Given the description of an element on the screen output the (x, y) to click on. 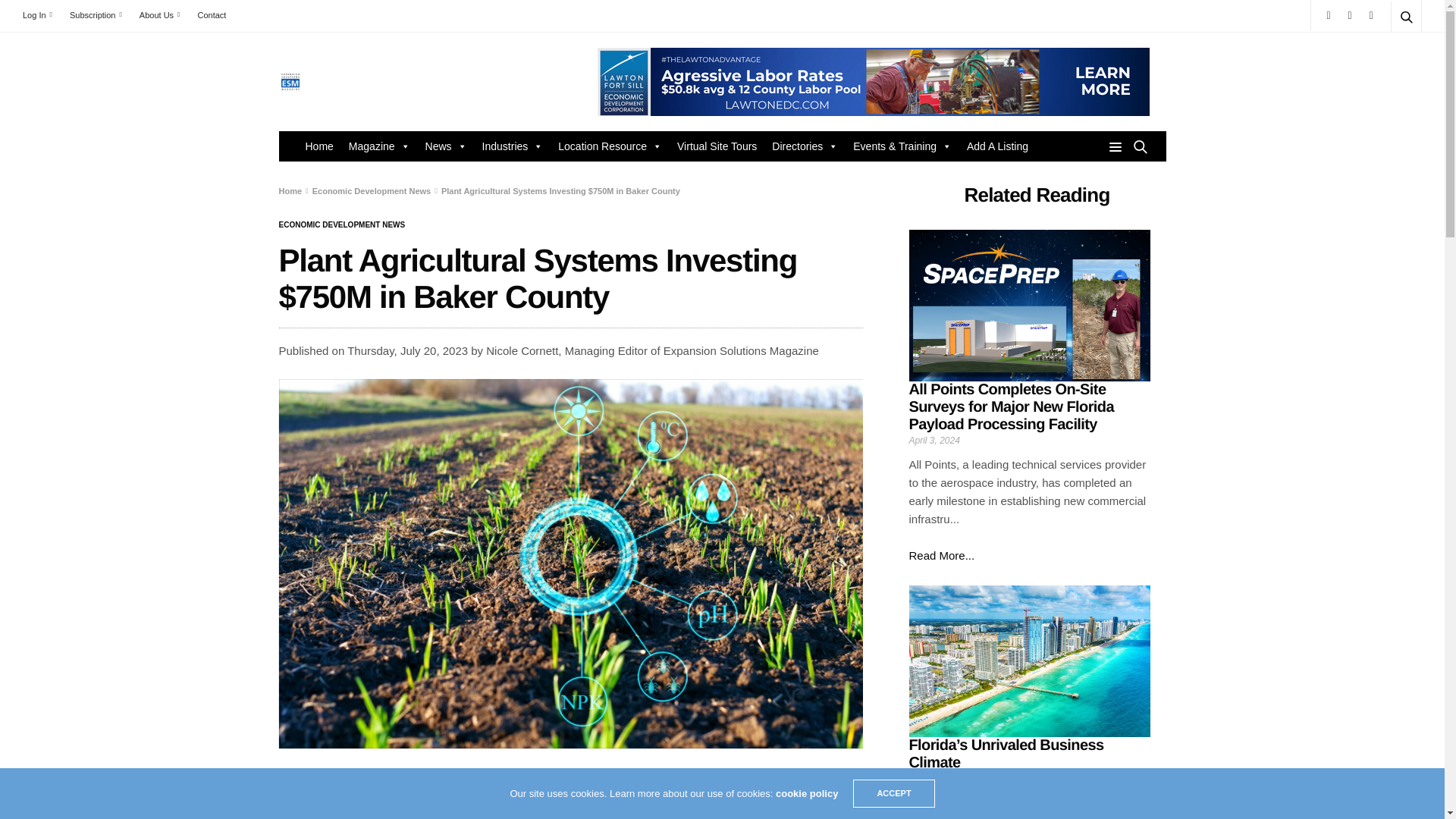
Subscription (95, 15)
Magazine (378, 146)
Economic Development News (342, 225)
Log In (41, 15)
Contact (210, 15)
About Us (159, 15)
Home (318, 146)
Search (1386, 53)
News (445, 146)
